Given the description of an element on the screen output the (x, y) to click on. 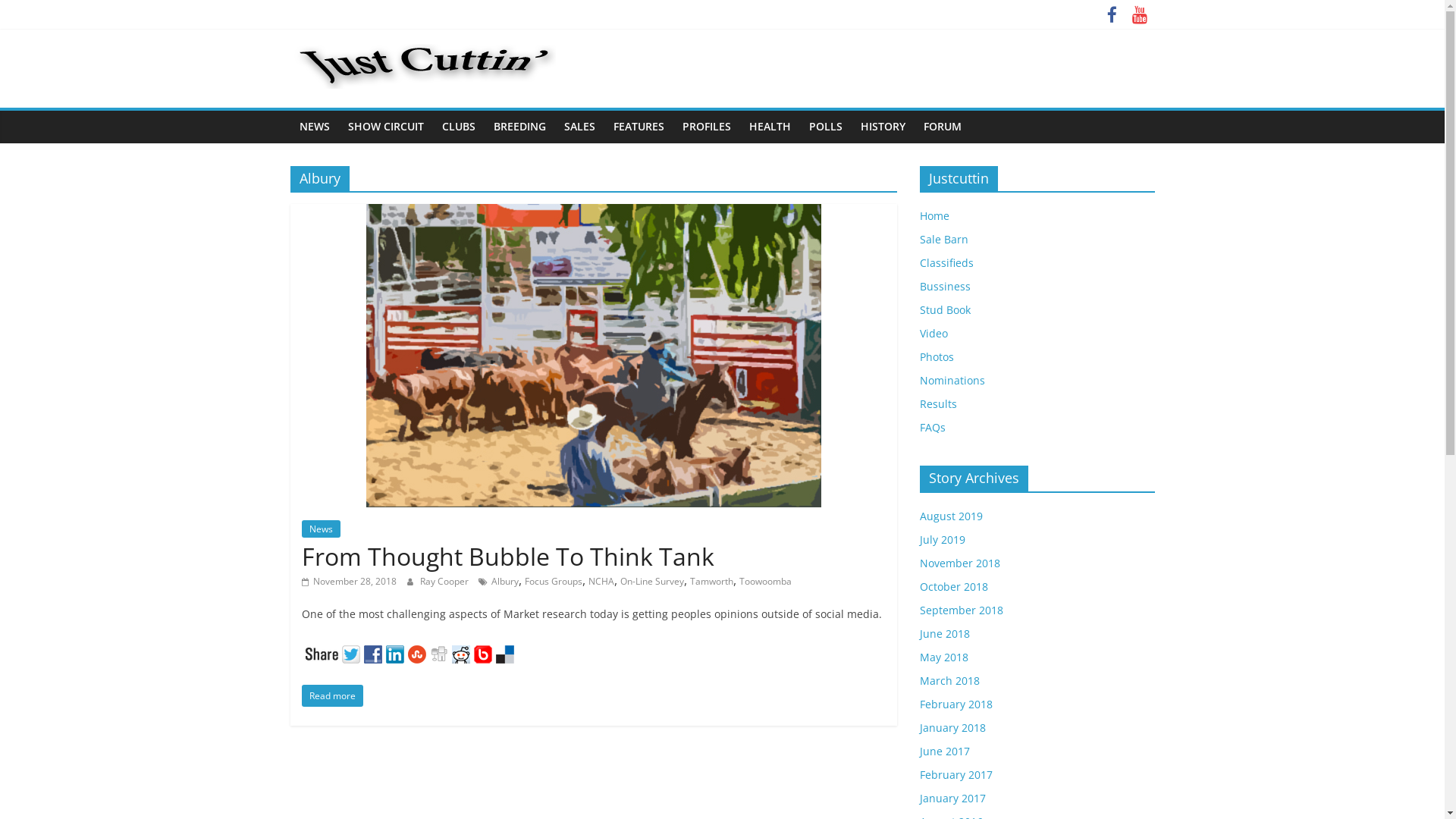
FEATURES Element type: text (637, 126)
Home Element type: text (933, 215)
Bebo Element type: hover (484, 652)
Reddit Element type: hover (462, 652)
Albury Element type: text (504, 580)
From Thought Bubble To Think Tank Element type: hover (592, 212)
Photos Element type: text (936, 356)
September 2018 Element type: text (960, 609)
StumbleUpon Element type: hover (418, 652)
Facebook Element type: hover (374, 652)
January 2018 Element type: text (952, 727)
Classifieds Element type: text (945, 262)
Video Element type: text (933, 333)
Digg Element type: hover (440, 652)
BREEDING Element type: text (518, 126)
On-Line Survey Element type: text (652, 580)
June 2017 Element type: text (944, 750)
November 28, 2018 Element type: text (348, 580)
January 2017 Element type: text (952, 797)
Ray Cooper Element type: text (445, 580)
Delicious Element type: hover (506, 652)
November 2018 Element type: text (959, 562)
NCHA Element type: text (601, 580)
SHOW CIRCUIT Element type: text (385, 126)
Results Element type: text (937, 403)
Toowoomba Element type: text (764, 580)
Linkedin Element type: hover (396, 652)
May 2018 Element type: text (943, 656)
October 2018 Element type: text (953, 586)
SALES Element type: text (579, 126)
June 2018 Element type: text (944, 633)
Sale Barn Element type: text (943, 239)
July 2019 Element type: text (941, 539)
News Element type: text (320, 528)
HEALTH Element type: text (770, 126)
Bussiness Element type: text (944, 286)
March 2018 Element type: text (949, 680)
HISTORY Element type: text (881, 126)
Stud Book Element type: text (944, 309)
From Thought Bubble To Think Tank Element type: text (507, 555)
February 2018 Element type: text (955, 703)
Nominations Element type: text (951, 380)
NEWS Element type: text (313, 126)
POLLS Element type: text (824, 126)
Focus Groups Element type: text (553, 580)
Read more Element type: text (332, 695)
Twitter Element type: hover (352, 652)
CLUBS Element type: text (457, 126)
Tamworth Element type: text (711, 580)
FORUM Element type: text (942, 126)
FAQs Element type: text (931, 427)
PROFILES Element type: text (706, 126)
August 2019 Element type: text (950, 515)
February 2017 Element type: text (955, 774)
